Given the description of an element on the screen output the (x, y) to click on. 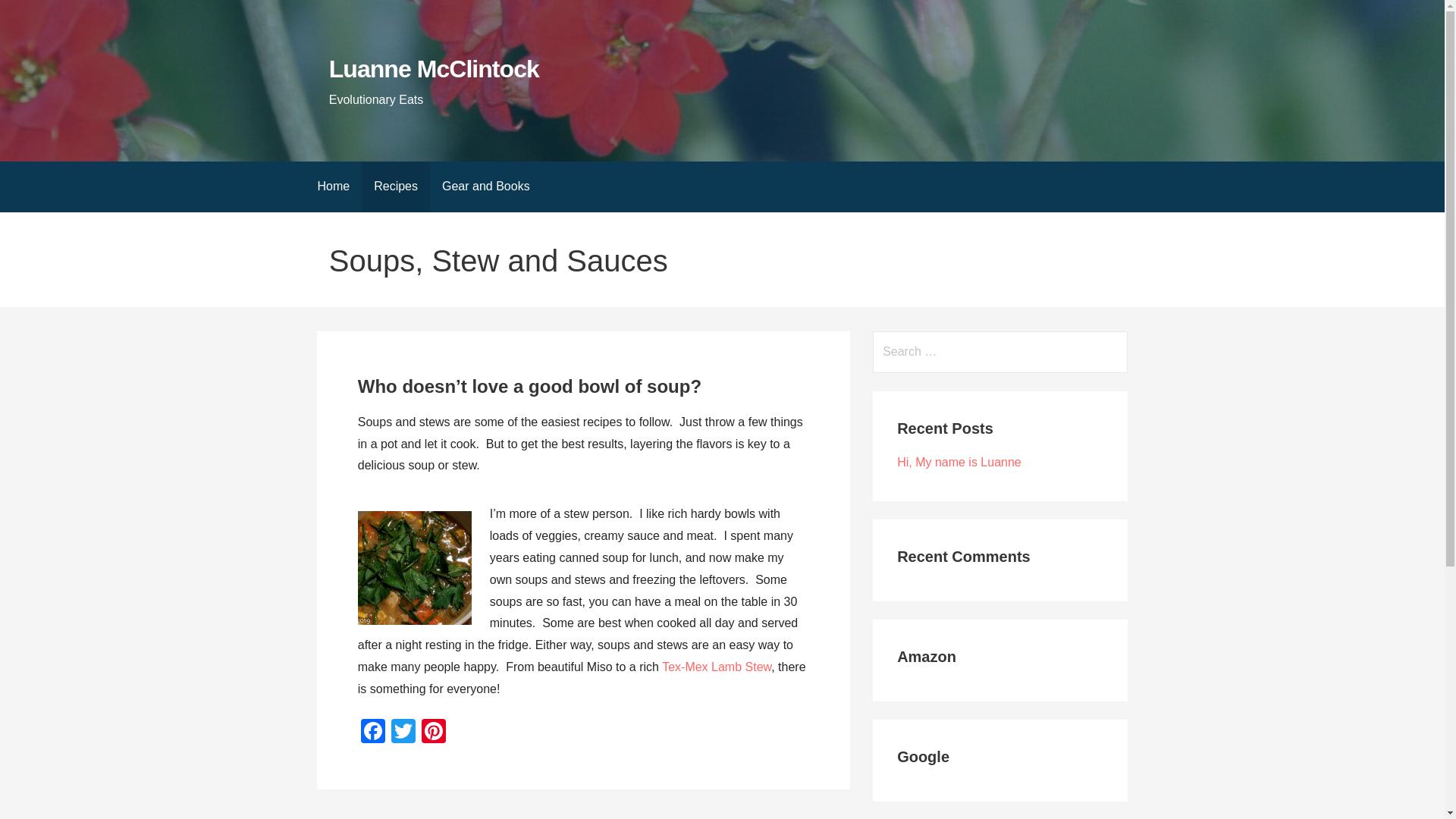
Tex-Mex Lamb Stew (716, 666)
Twitter (403, 732)
Recipes (395, 186)
Facebook (373, 732)
Luanne McClintock (433, 68)
Pinterest (433, 732)
Home (332, 186)
